Given the description of an element on the screen output the (x, y) to click on. 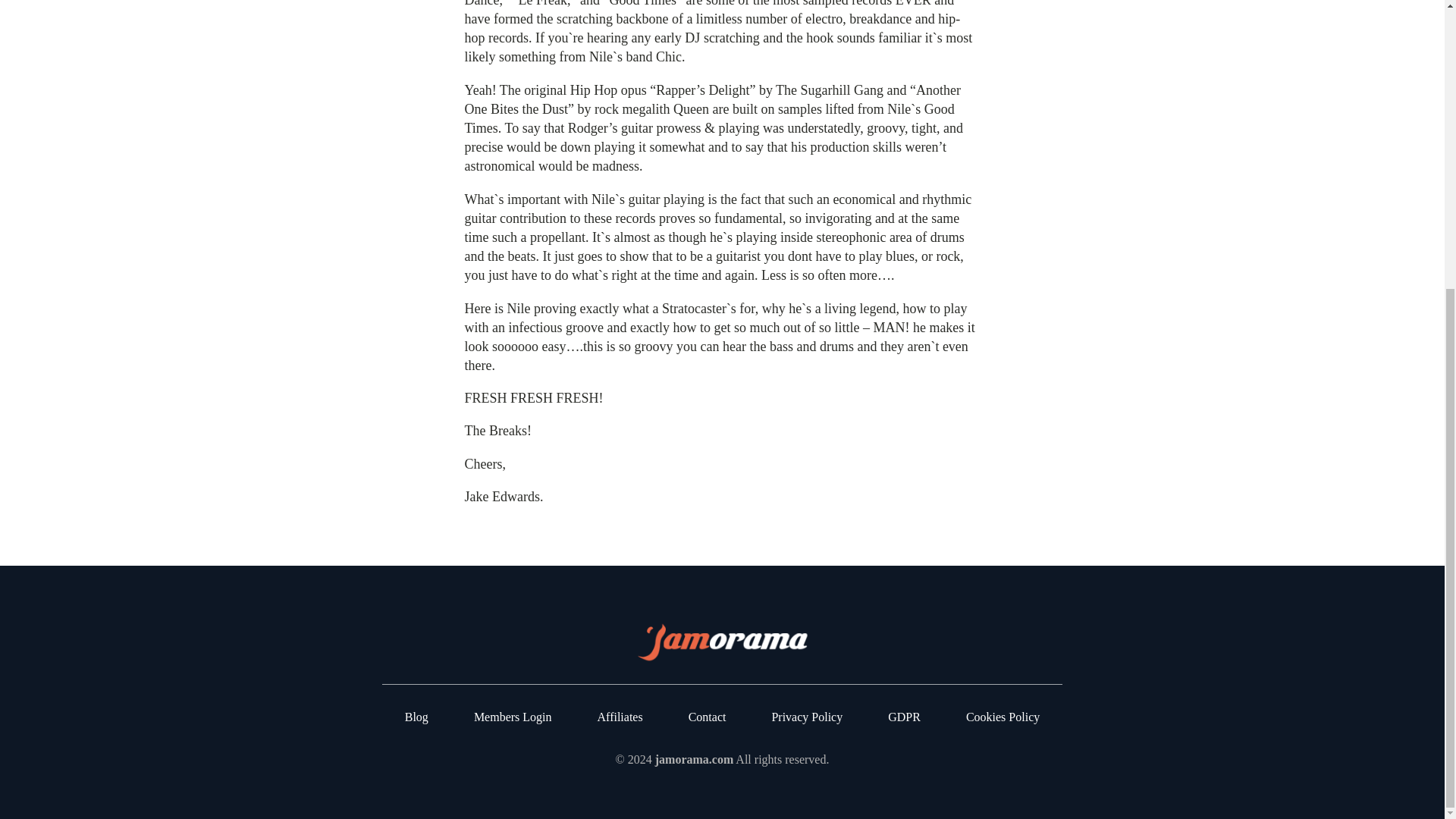
Contact (707, 717)
Affiliates (619, 717)
Privacy Policy (807, 717)
Members Login (512, 717)
GDPR (904, 717)
Cookies Policy (1002, 717)
Blog (416, 717)
